Given the description of an element on the screen output the (x, y) to click on. 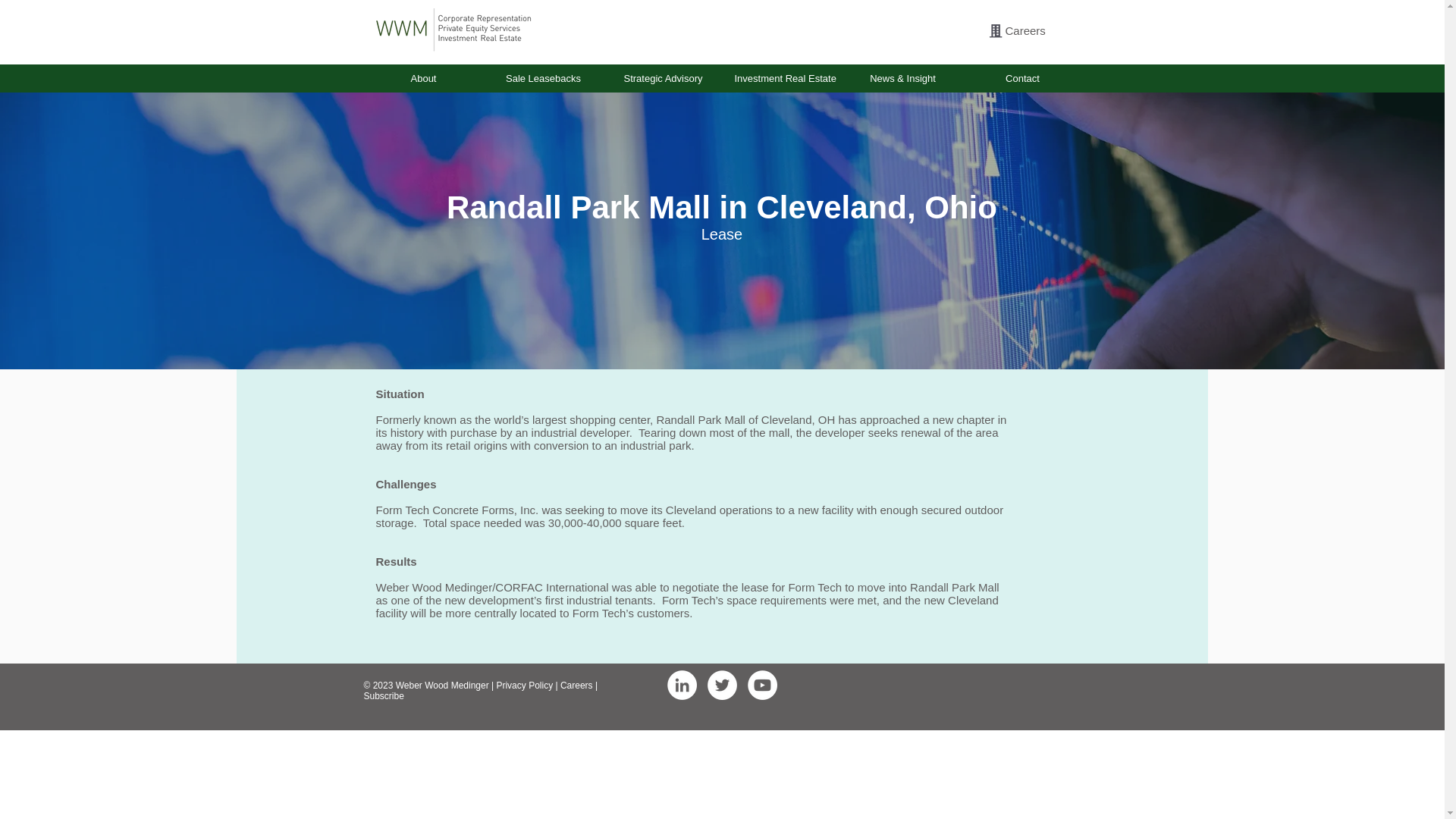
Contact (1022, 78)
Careers (1025, 30)
Careers (576, 685)
Privacy Policy (525, 685)
Subscribe (384, 696)
